Given the description of an element on the screen output the (x, y) to click on. 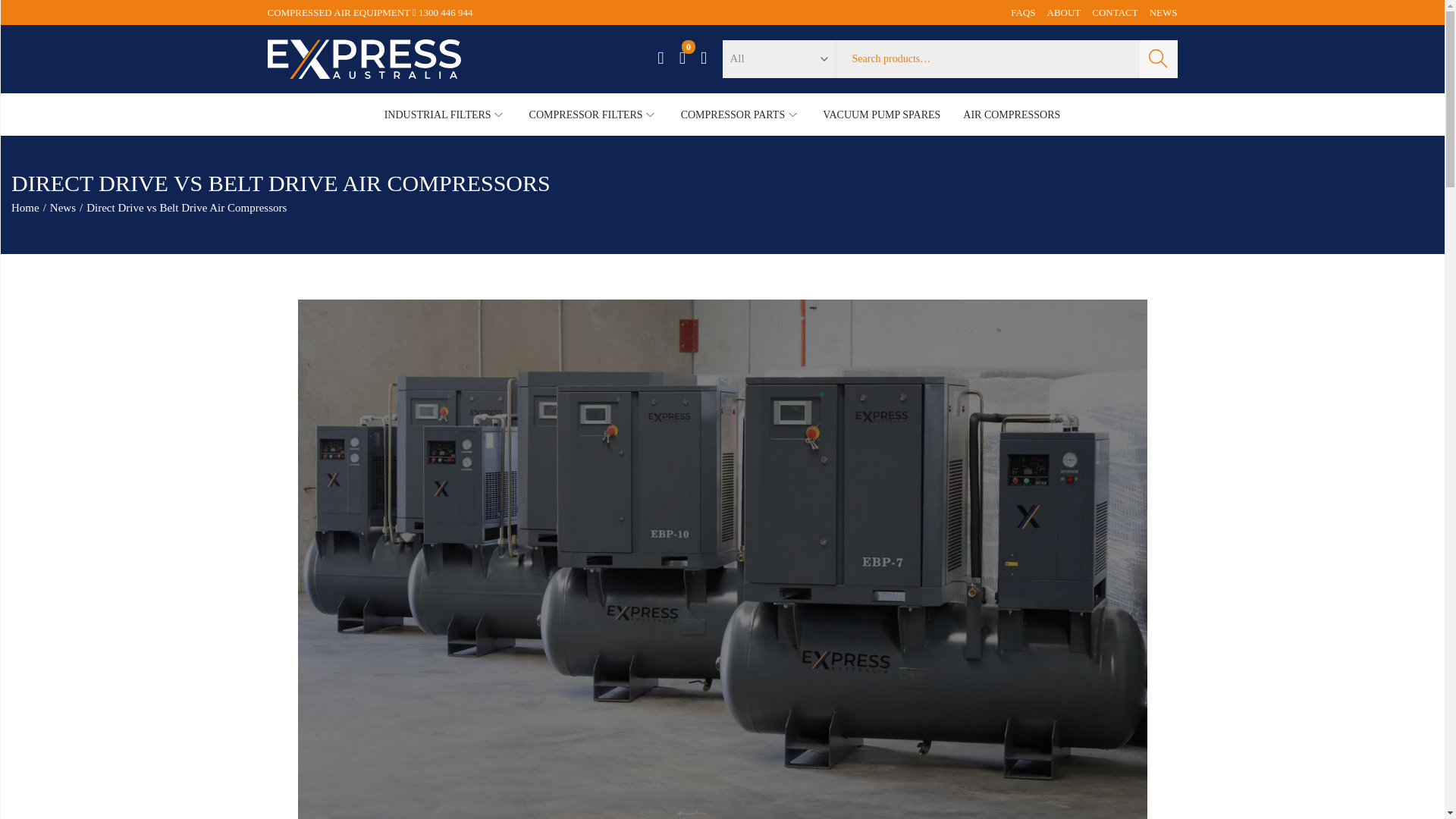
0 (682, 57)
Search (1157, 58)
COMPRESSOR FILTERS (593, 114)
INDUSTRIAL FILTERS (445, 114)
ABOUT (1063, 12)
1300 446 944 (446, 12)
NEWS (1163, 12)
COMPRESSOR PARTS (740, 114)
CONTACT (1114, 12)
FAQS (1022, 12)
